Given the description of an element on the screen output the (x, y) to click on. 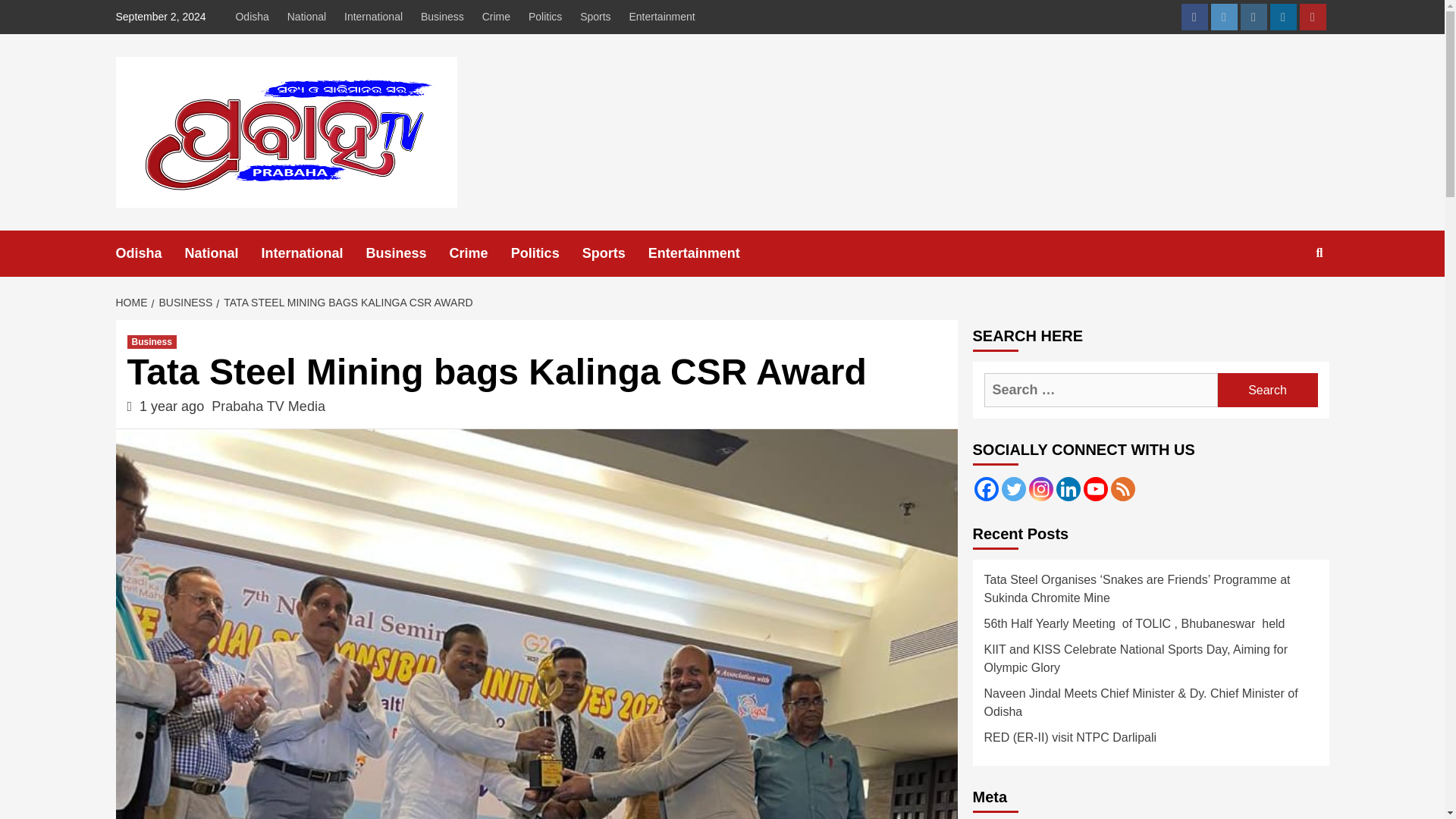
Entertainment (662, 17)
Linkedin (1067, 488)
Business (442, 17)
HOME (133, 302)
Crime (480, 253)
Instagram (1253, 17)
Instagram (1039, 488)
TATA STEEL MINING BAGS KALINGA CSR AWARD (345, 302)
Business (407, 253)
Search (1283, 302)
